Given the description of an element on the screen output the (x, y) to click on. 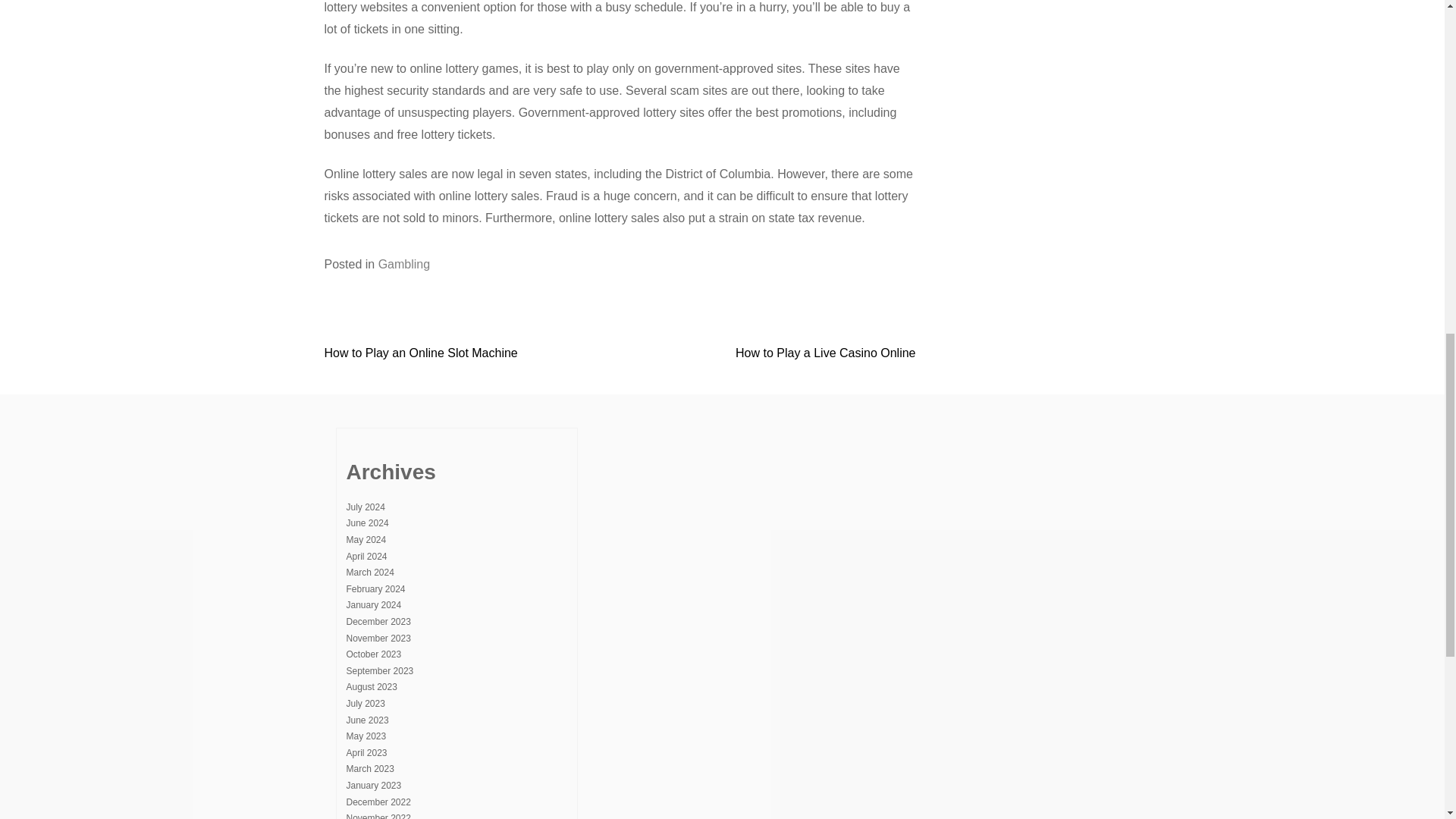
July 2024 (365, 507)
May 2023 (365, 736)
February 2024 (375, 588)
December 2023 (378, 621)
July 2023 (365, 703)
June 2024 (367, 522)
August 2023 (371, 686)
April 2024 (366, 556)
How to Play an Online Slot Machine (421, 352)
October 2023 (373, 654)
September 2023 (379, 670)
November 2022 (378, 816)
March 2023 (369, 768)
March 2024 (369, 572)
How to Play a Live Casino Online (825, 352)
